Given the description of an element on the screen output the (x, y) to click on. 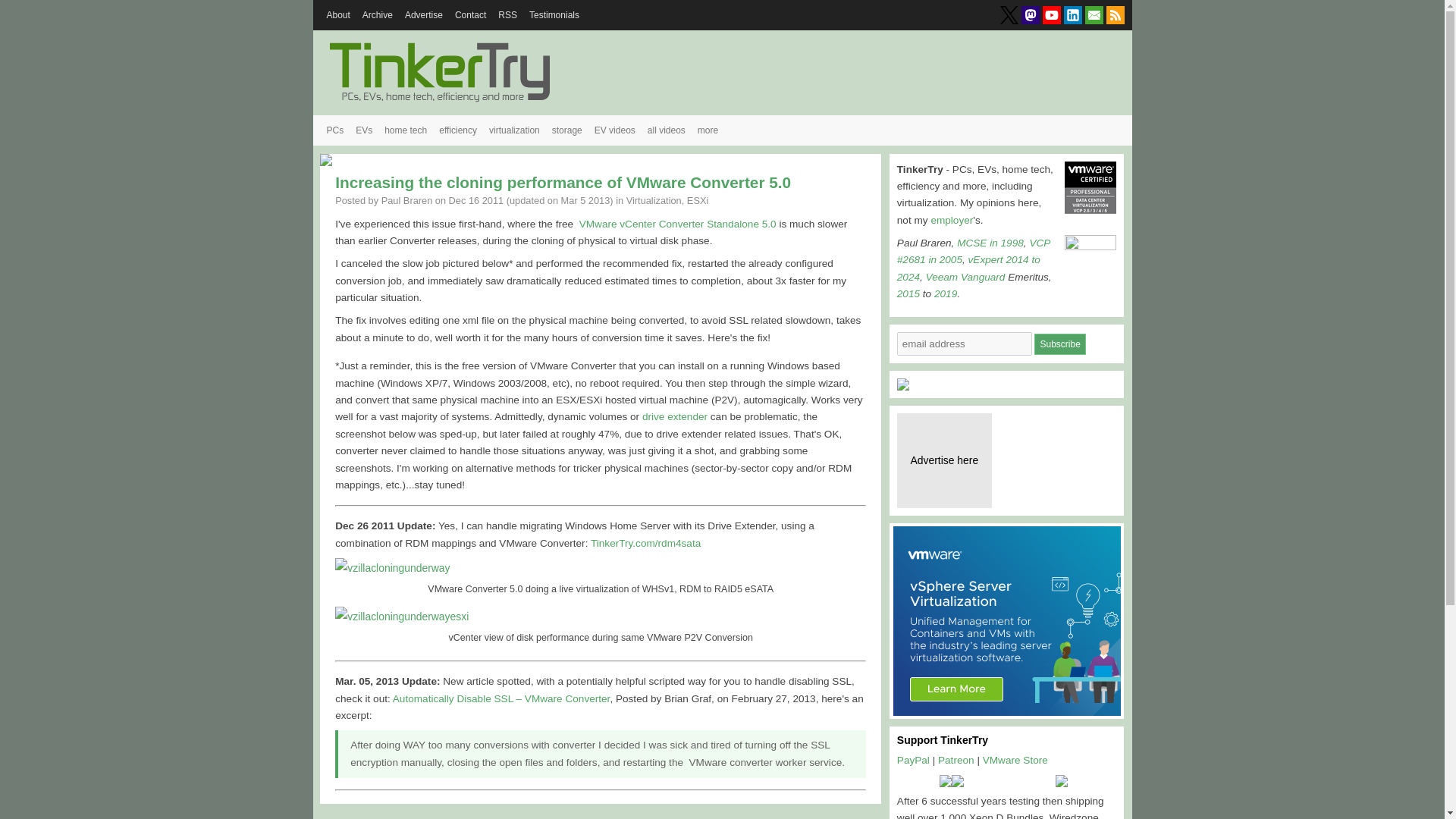
storage (566, 130)
Advertise (423, 15)
Virtualization (653, 199)
efficiency (458, 130)
Increasing the cloning performance of VMware Converter 5.0 (562, 181)
VMware vCenter Converter Standalone 5.0 (677, 224)
home tech (405, 130)
EV videos (614, 130)
Testimonials (554, 15)
virtualization (514, 130)
